Given the description of an element on the screen output the (x, y) to click on. 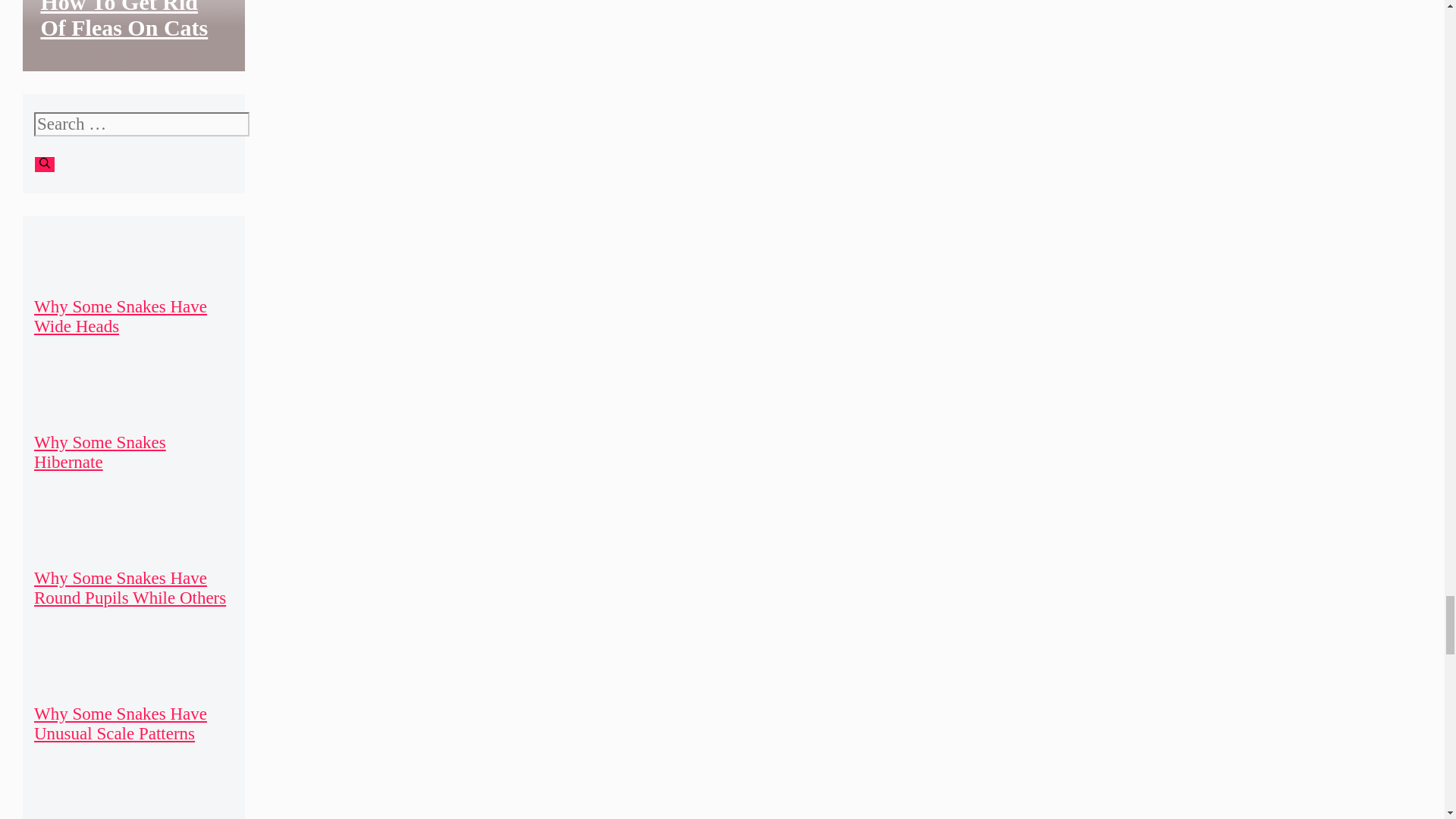
How To Get Rid Of Fleas On Cats That Hate Water (124, 33)
Why Some Snakes Hibernate (99, 452)
Why Some Snakes Have Wide Heads (119, 316)
